Given the description of an element on the screen output the (x, y) to click on. 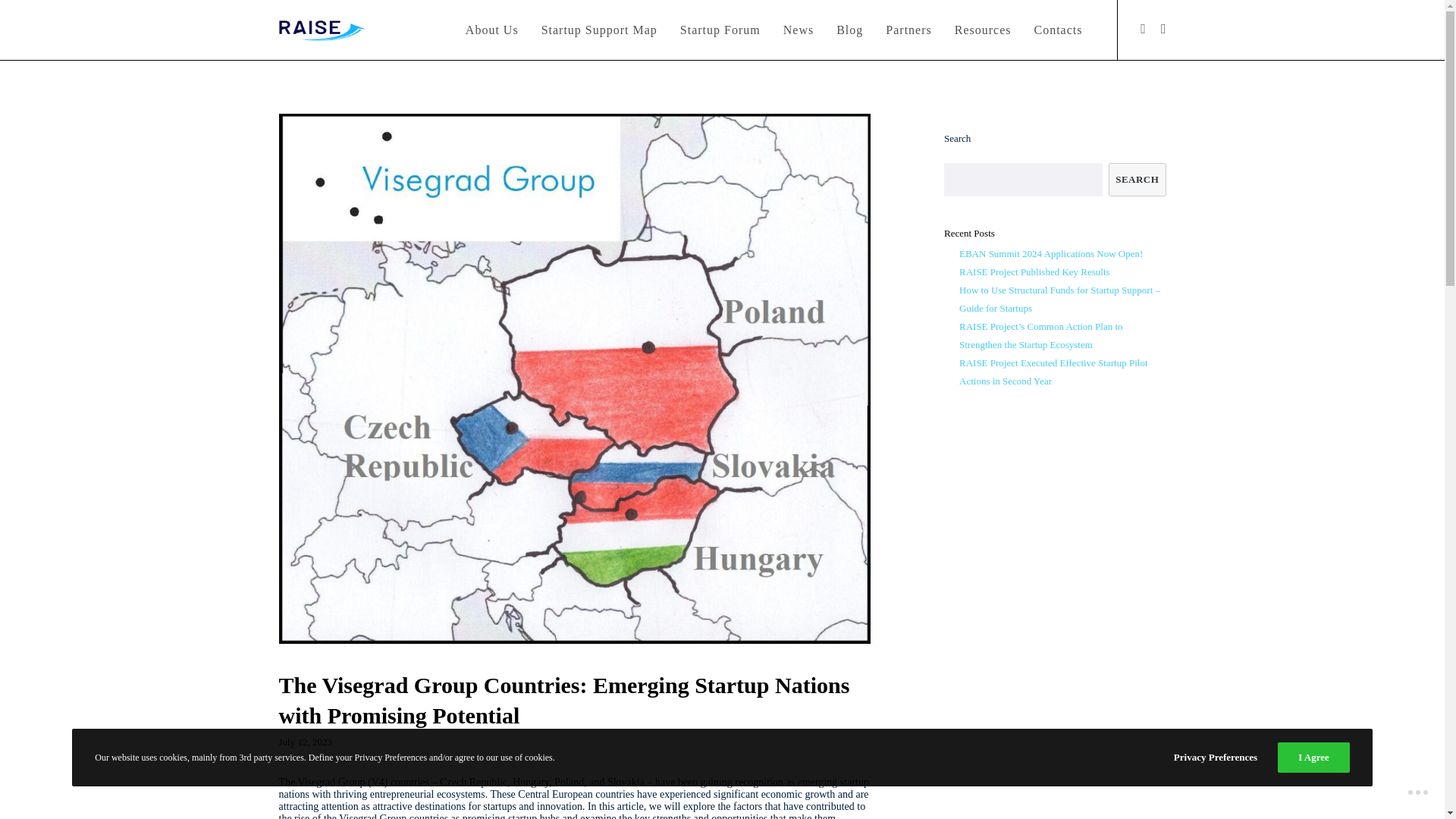
Contacts (1057, 30)
Startup Support Map (598, 30)
Resources (983, 30)
About Us (491, 30)
Partners (908, 30)
Startup Forum (719, 30)
